Given the description of an element on the screen output the (x, y) to click on. 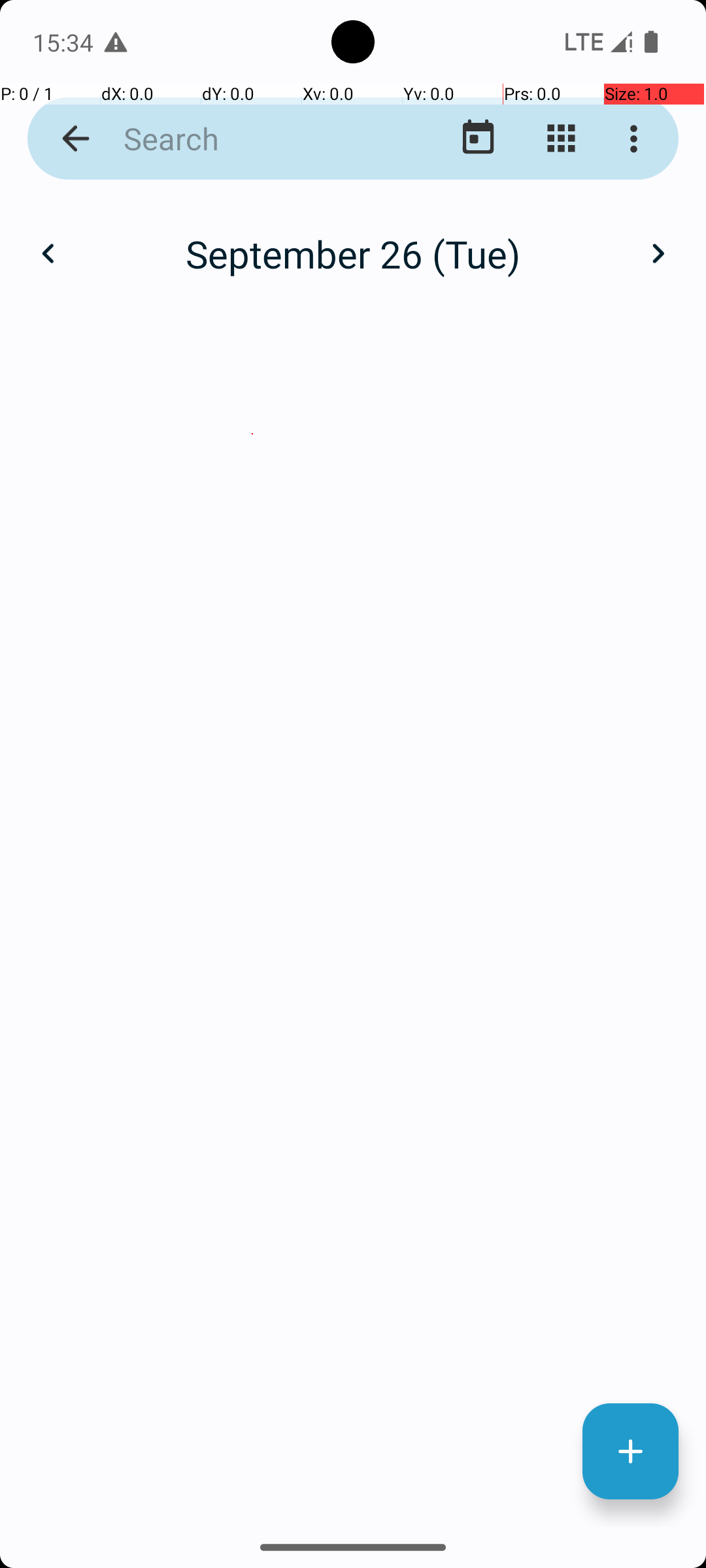
September 26 (Tue) Element type: android.widget.TextView (352, 253)
